Given the description of an element on the screen output the (x, y) to click on. 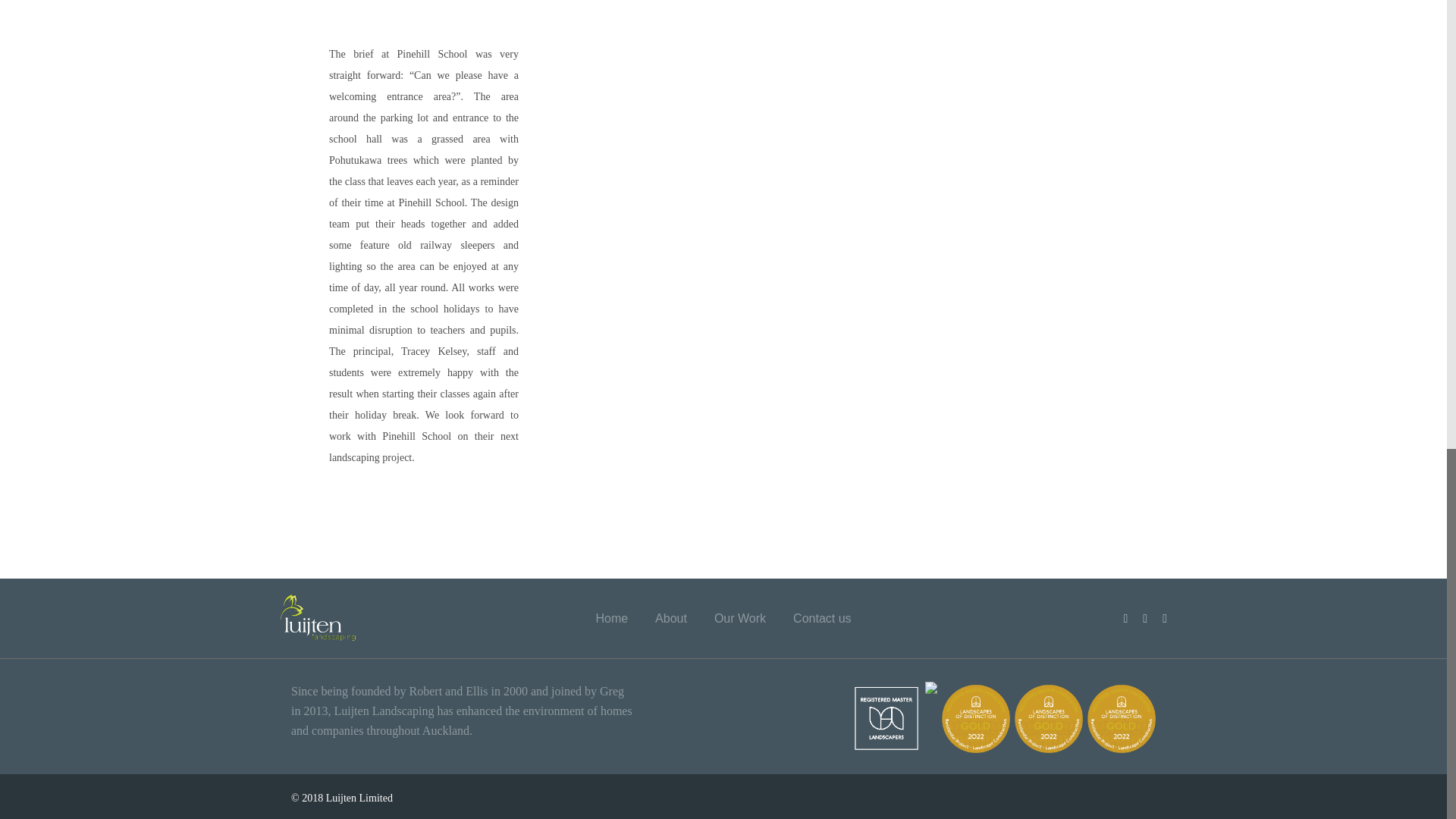
Home (611, 617)
Our Work (739, 617)
Contact us (821, 617)
About (671, 617)
